Given the description of an element on the screen output the (x, y) to click on. 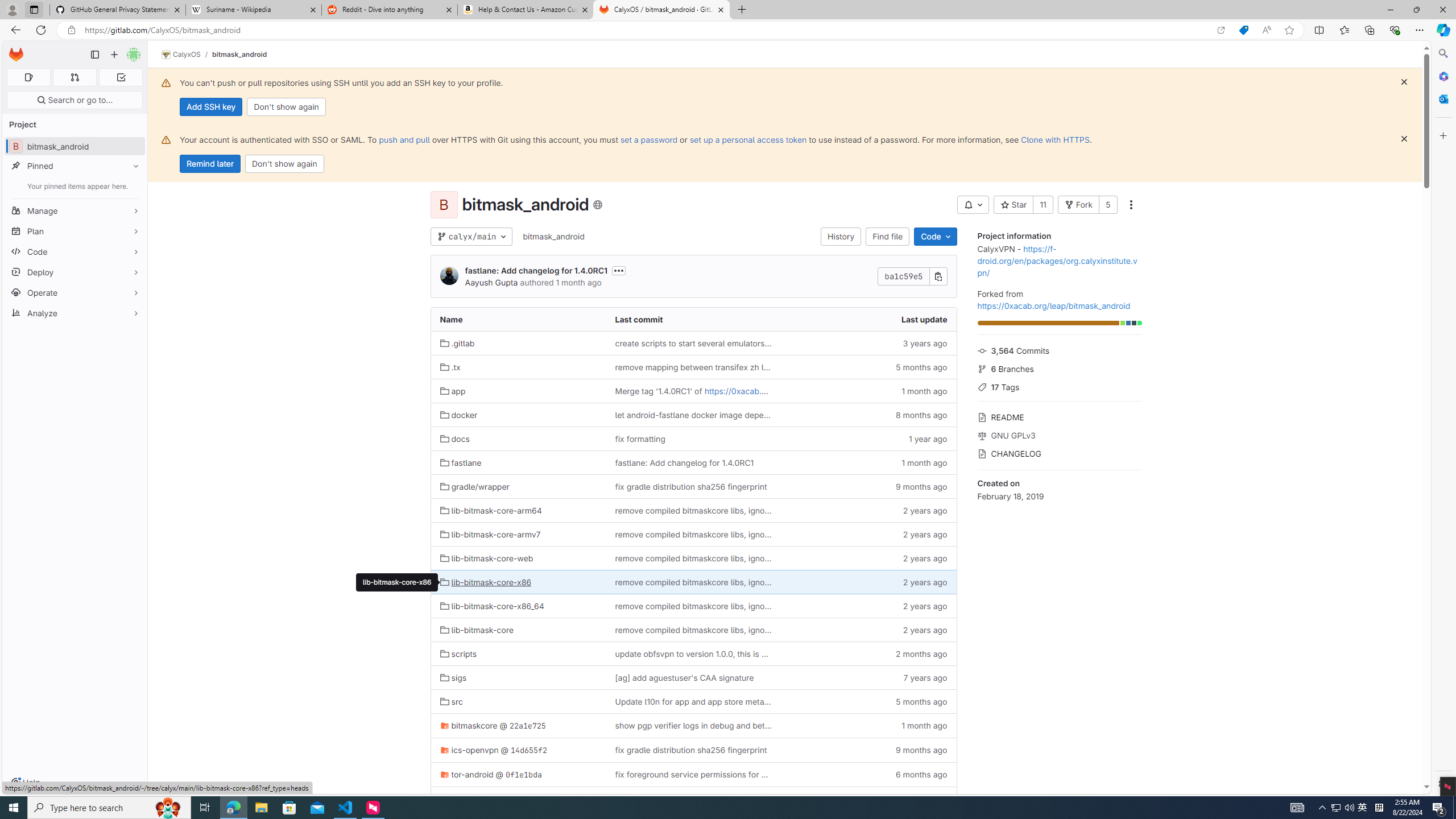
app (517, 390)
Create new... (113, 54)
Copy commit SHA (937, 275)
Analyze (74, 312)
Suriname - Wikipedia (253, 9)
Operate (74, 292)
GNU GPLv3 (1058, 434)
3,564 Commits (1058, 349)
lib-bitmask-core-web (517, 558)
